Given the description of an element on the screen output the (x, y) to click on. 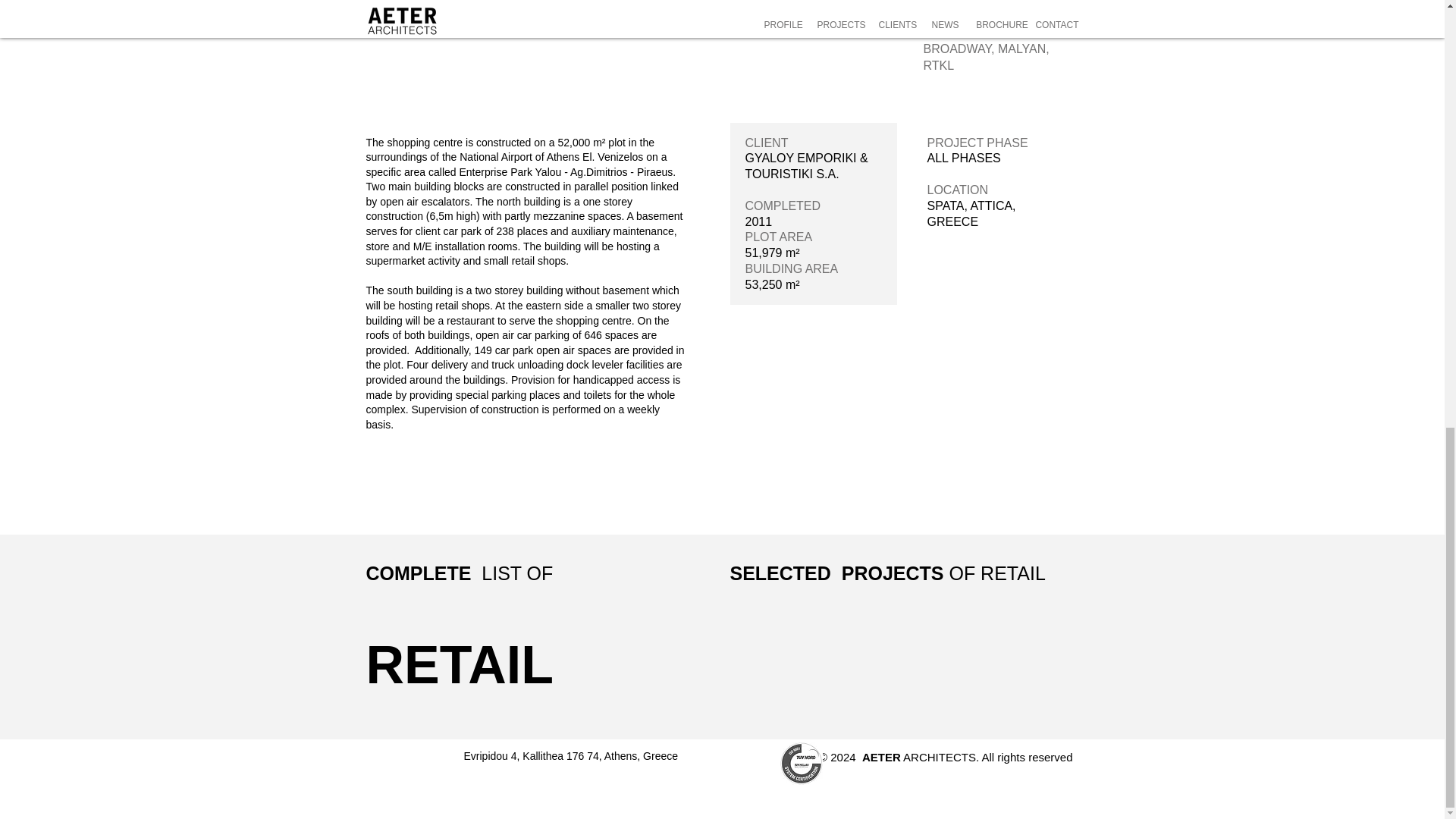
COMPLETE  LIST OF (459, 572)
